Given the description of an element on the screen output the (x, y) to click on. 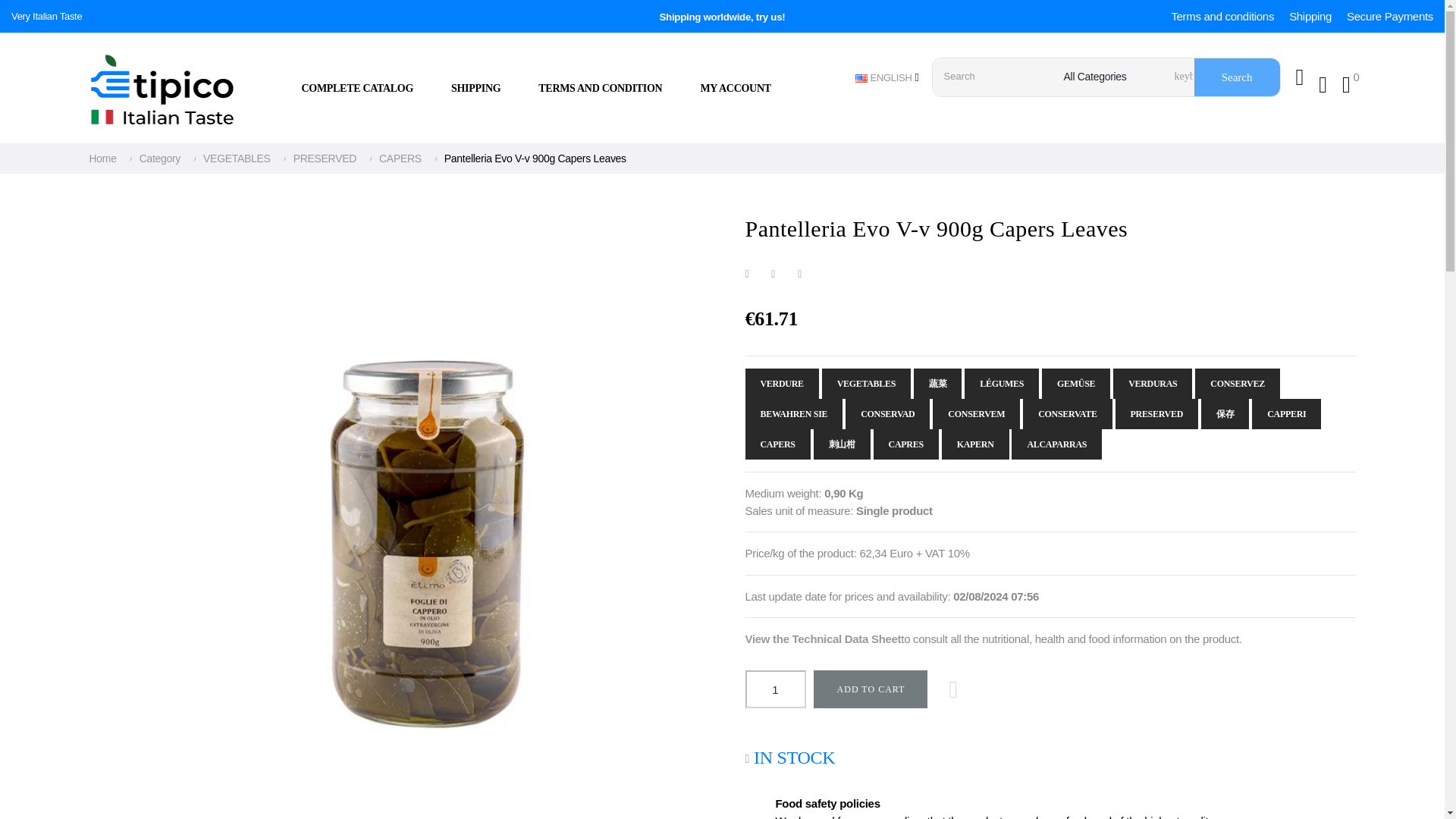
Terms and conditions (1222, 15)
Secure Payments (1389, 15)
MY ACCOUNT (735, 88)
Language (887, 76)
ENGLISH (887, 76)
1 (774, 689)
COMPLETE CATALOG (366, 88)
Add to Wishlist (953, 689)
TERMS AND CONDITION (600, 88)
SHIPPING (475, 88)
Shipping (1310, 15)
